Given the description of an element on the screen output the (x, y) to click on. 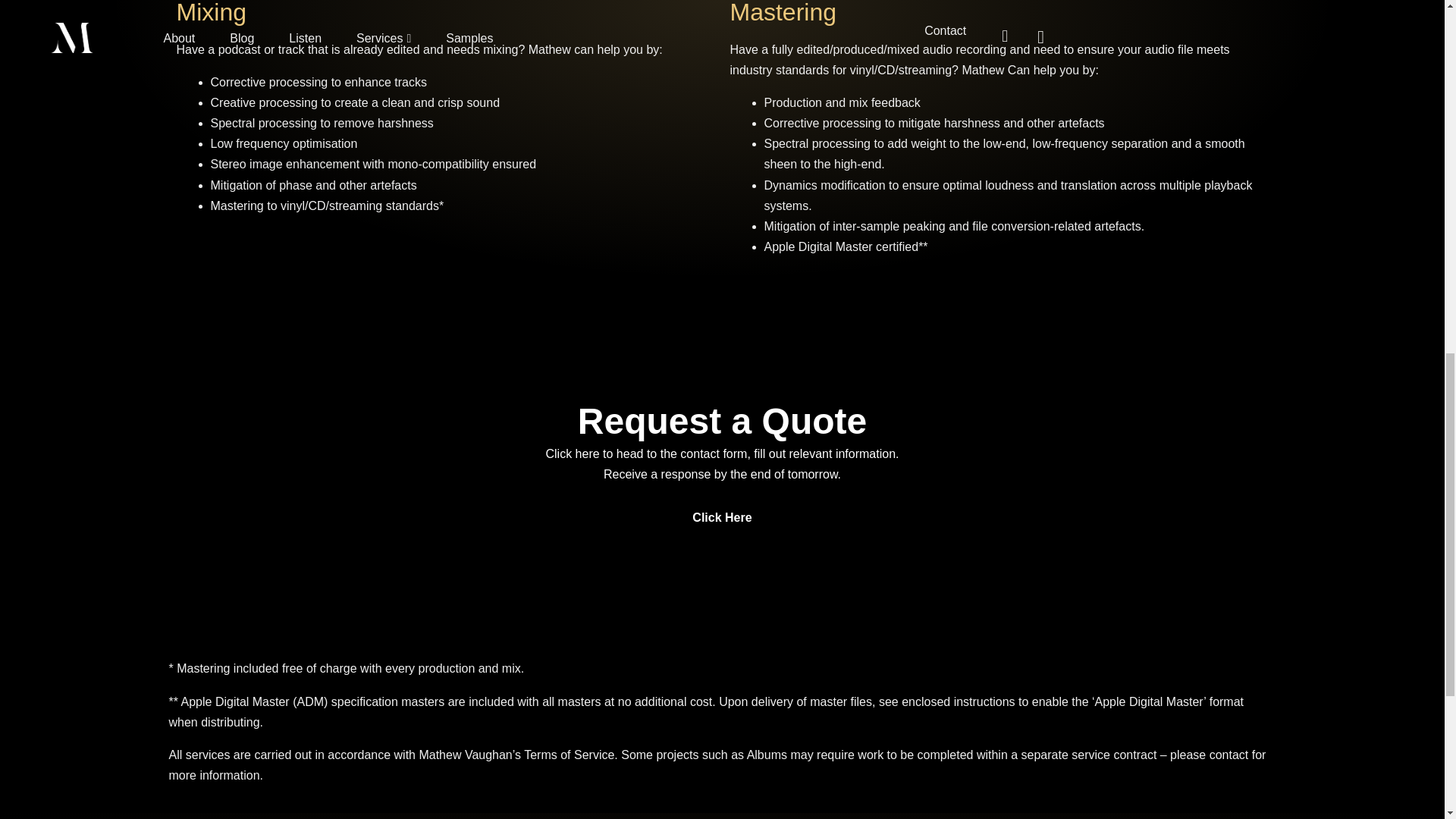
Mastering (782, 12)
Mixing (211, 12)
